Given the description of an element on the screen output the (x, y) to click on. 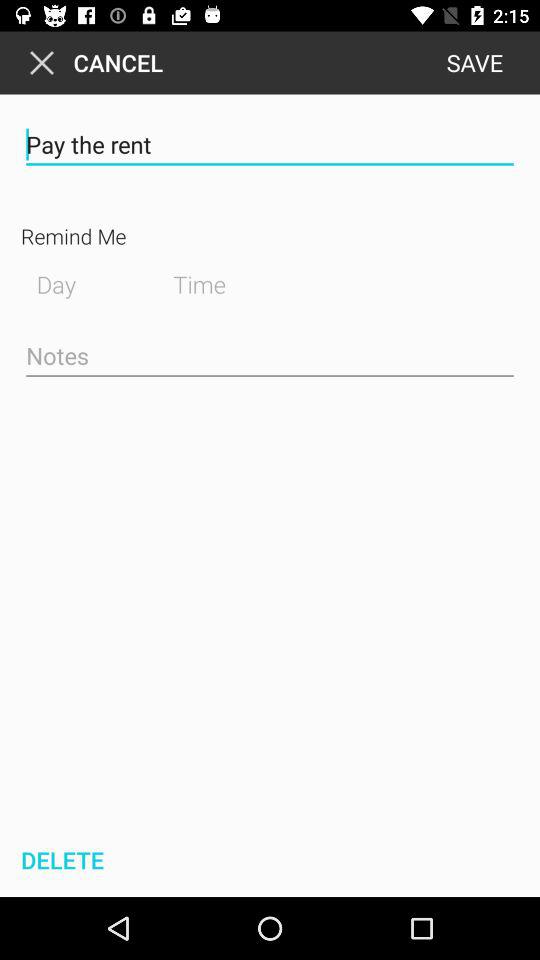
turn off the icon next to the save icon (92, 62)
